Given the description of an element on the screen output the (x, y) to click on. 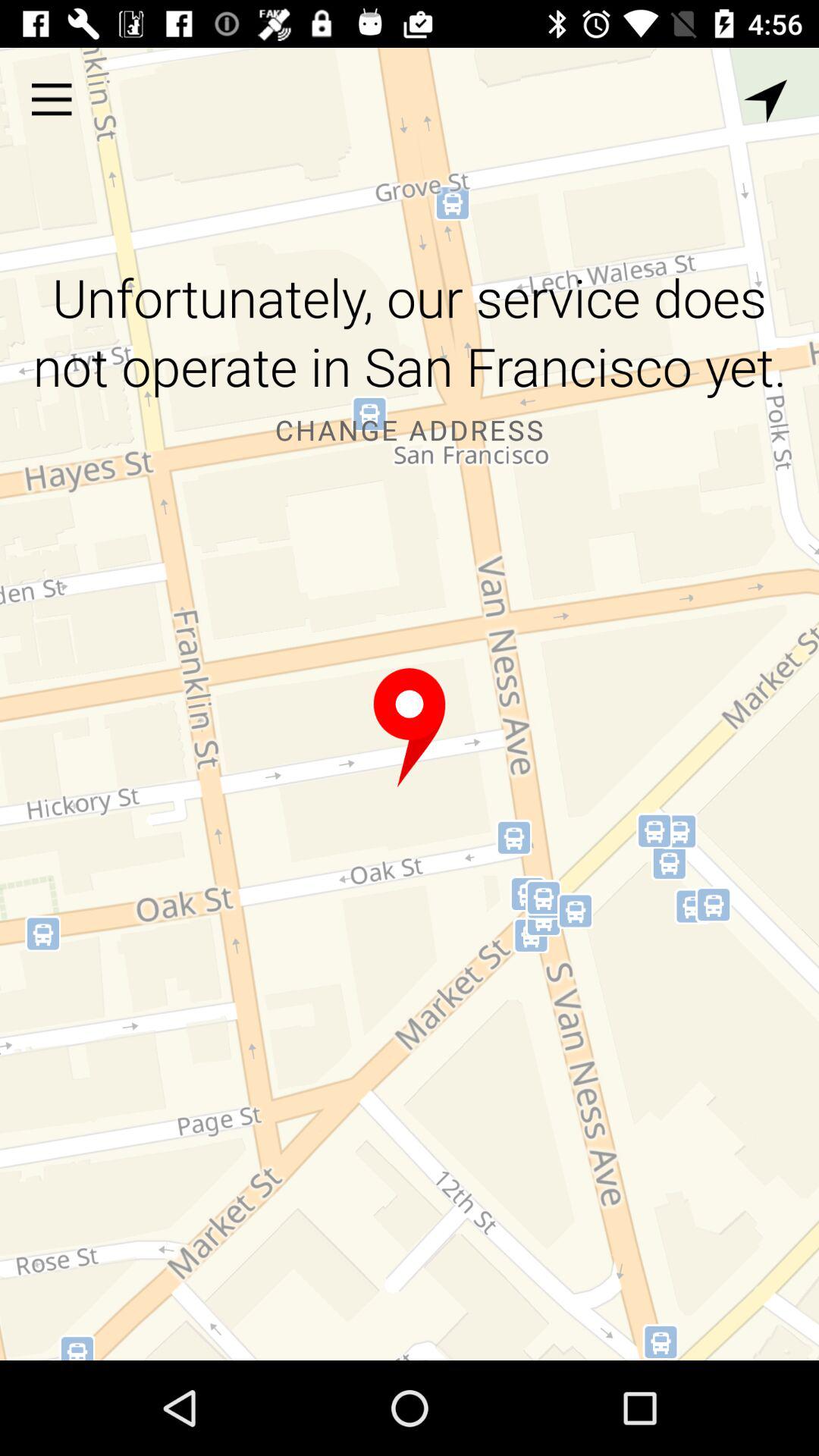
find current location (765, 100)
